Given the description of an element on the screen output the (x, y) to click on. 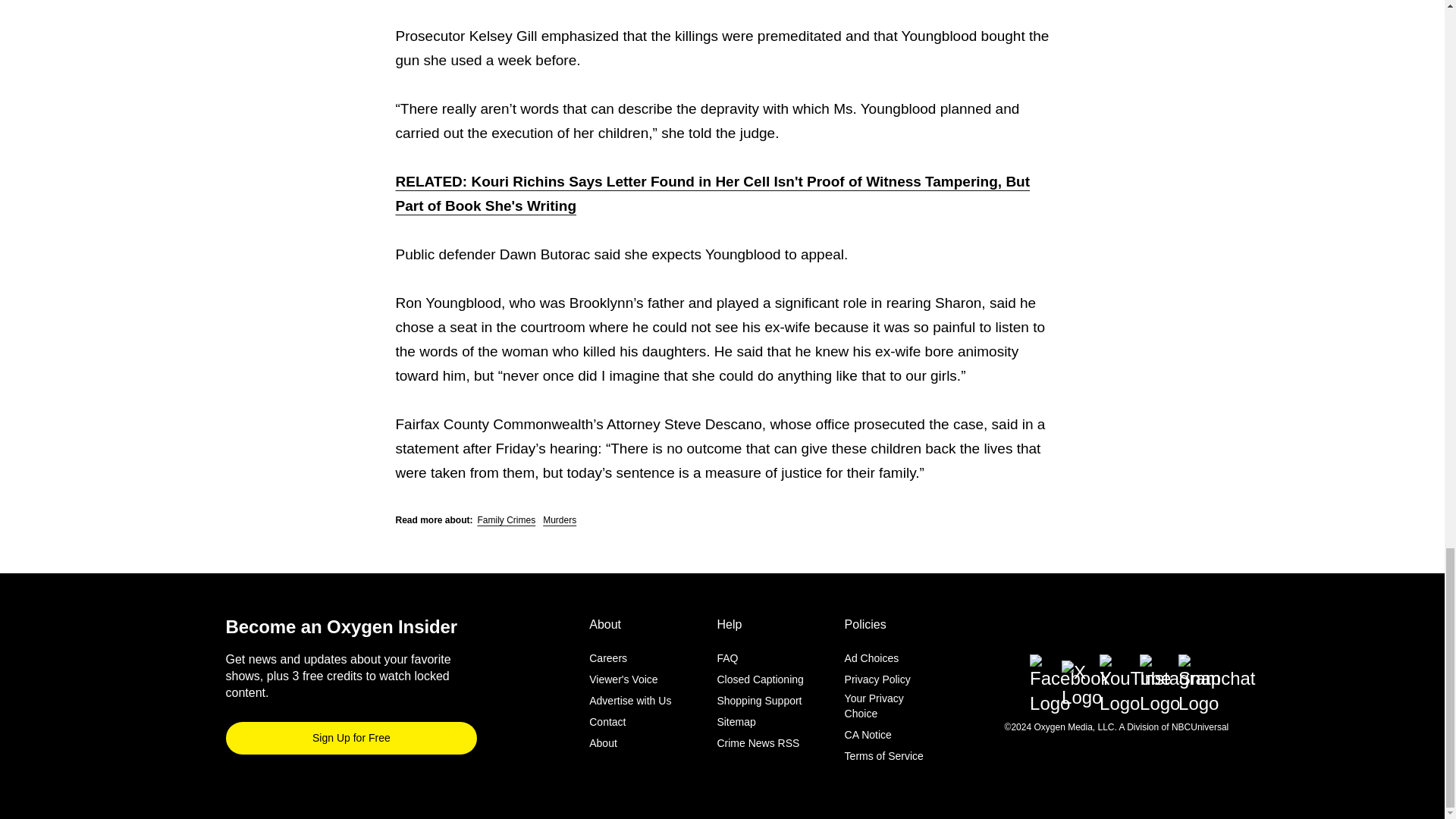
Advertise with Us (630, 700)
Family Crimes (506, 520)
Murders (559, 520)
